Given the description of an element on the screen output the (x, y) to click on. 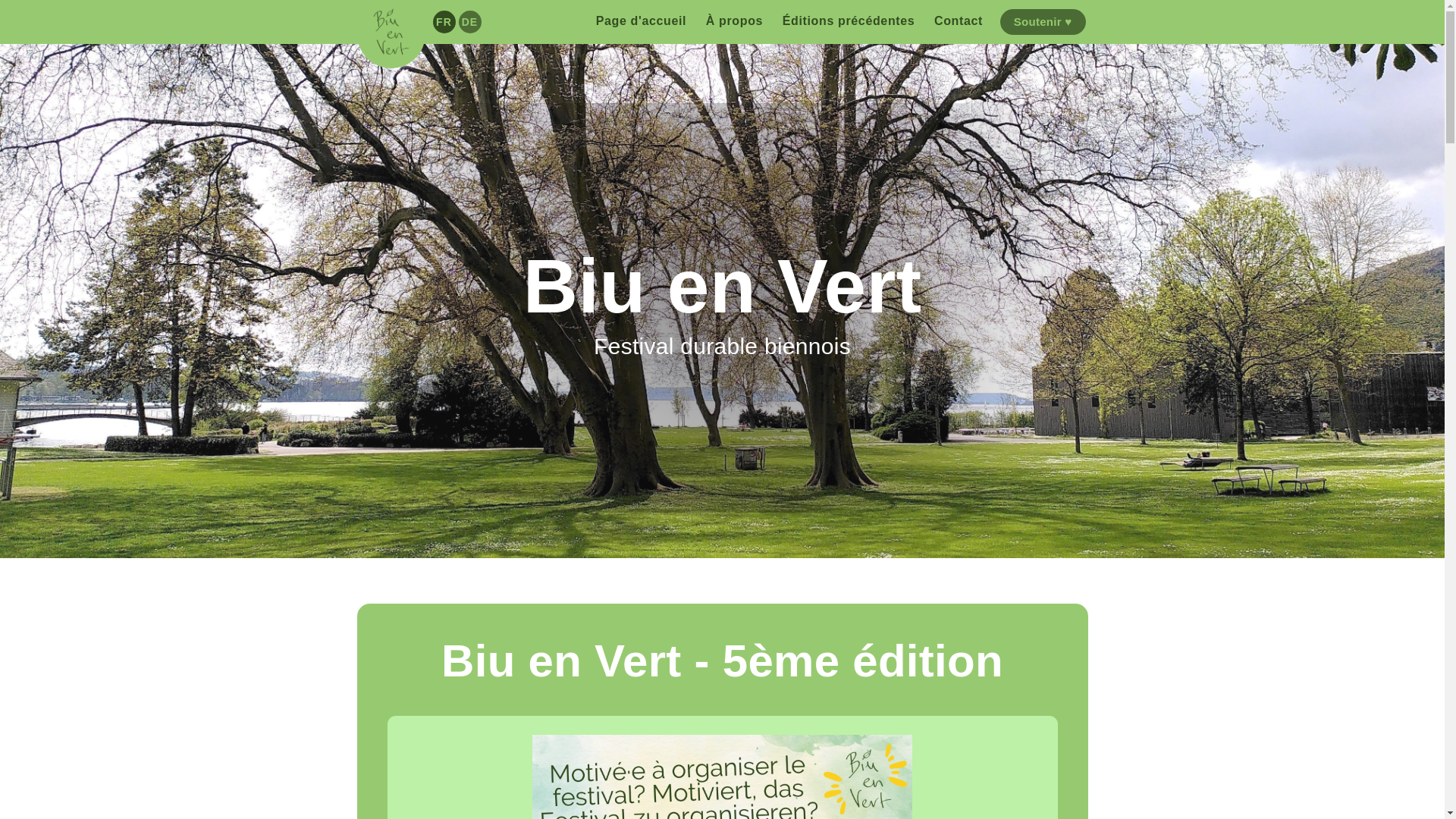
FR Element type: text (443, 21)
Page d'accueil Element type: text (641, 21)
DE Element type: text (469, 21)
Contact Element type: text (958, 21)
